Given the description of an element on the screen output the (x, y) to click on. 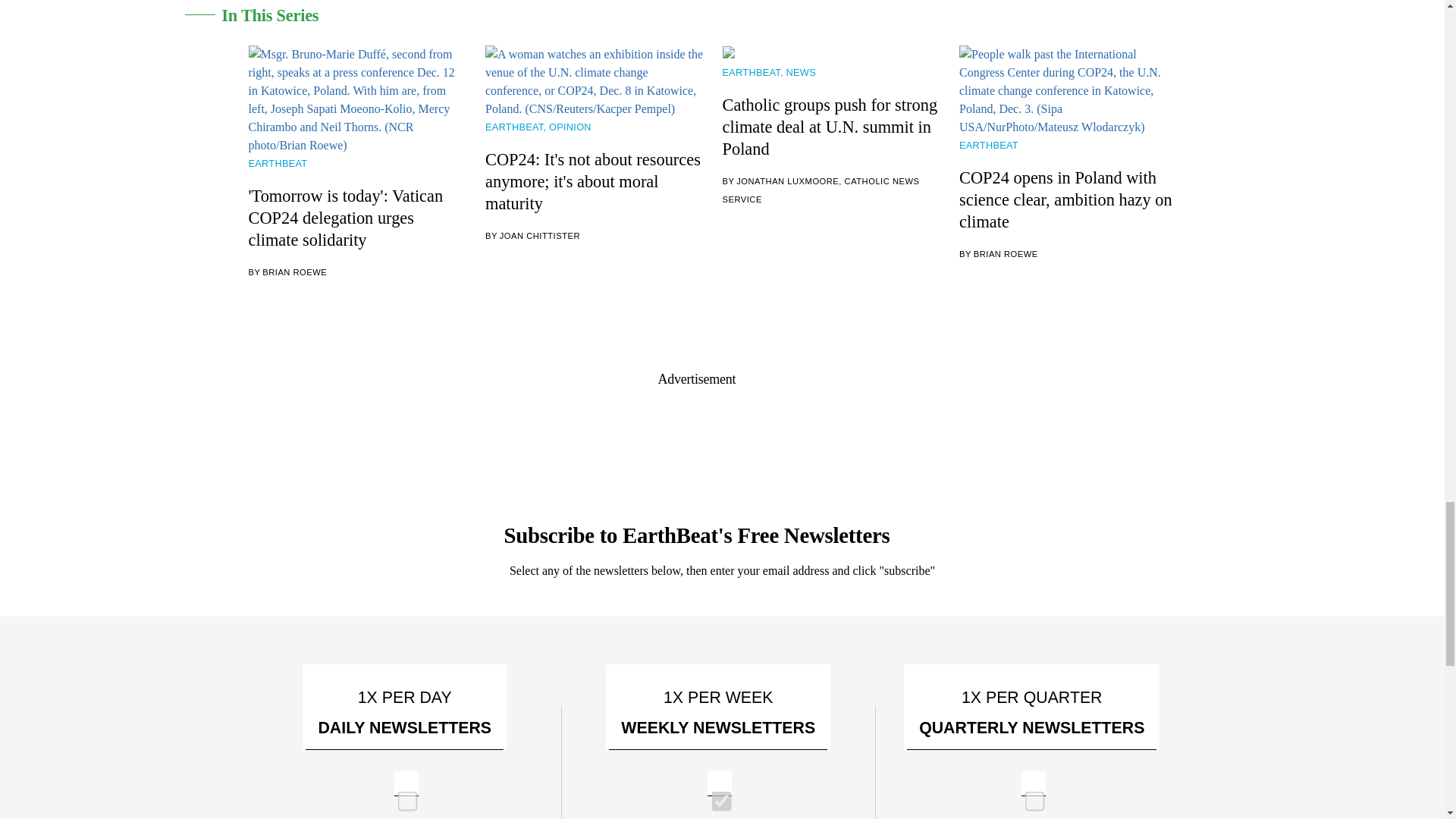
ef6500f2d3 (715, 796)
efa1b974a2 (402, 796)
bcf567f831 (1030, 796)
